Given the description of an element on the screen output the (x, y) to click on. 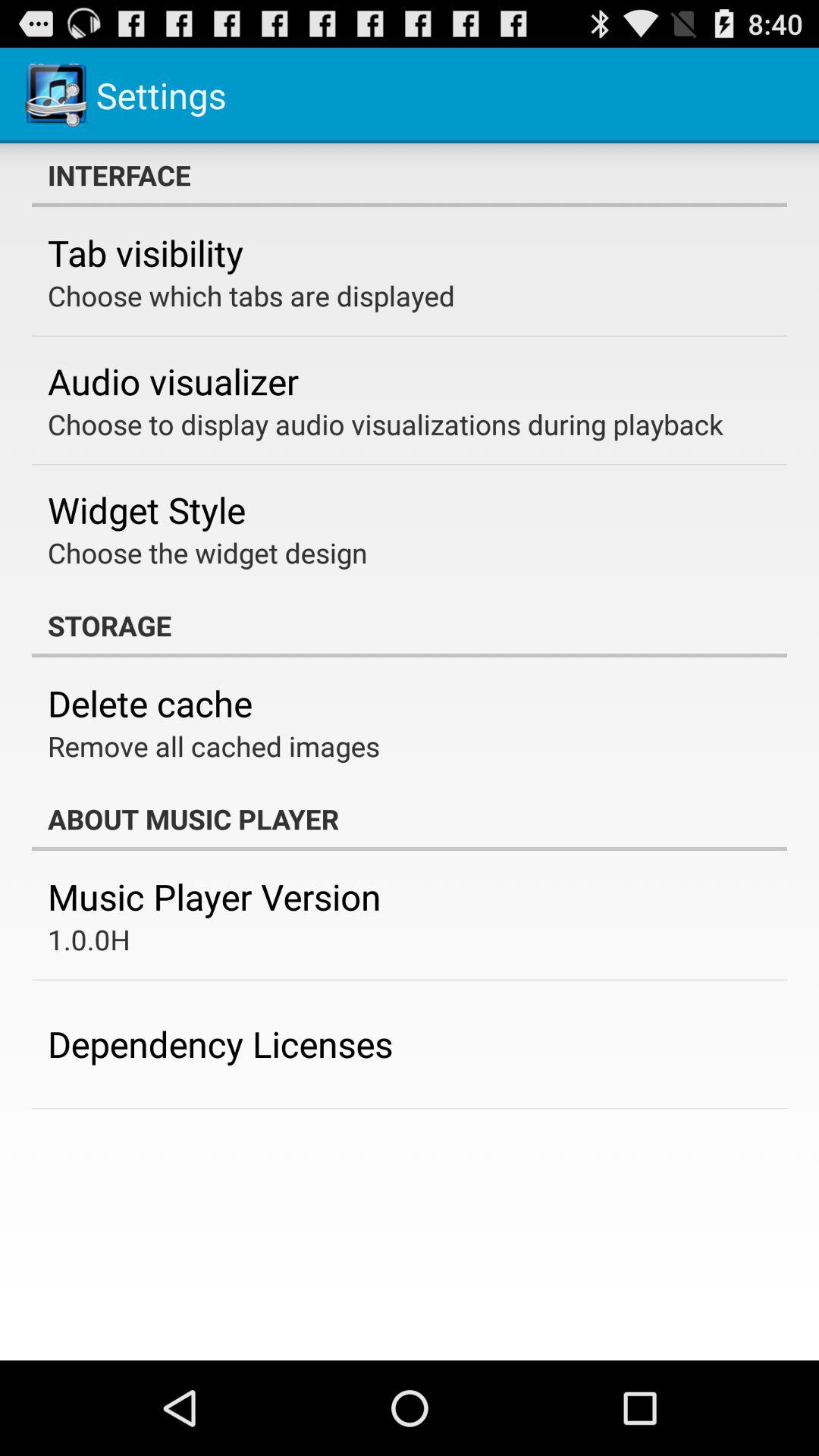
select item below the interface app (145, 252)
